Given the description of an element on the screen output the (x, y) to click on. 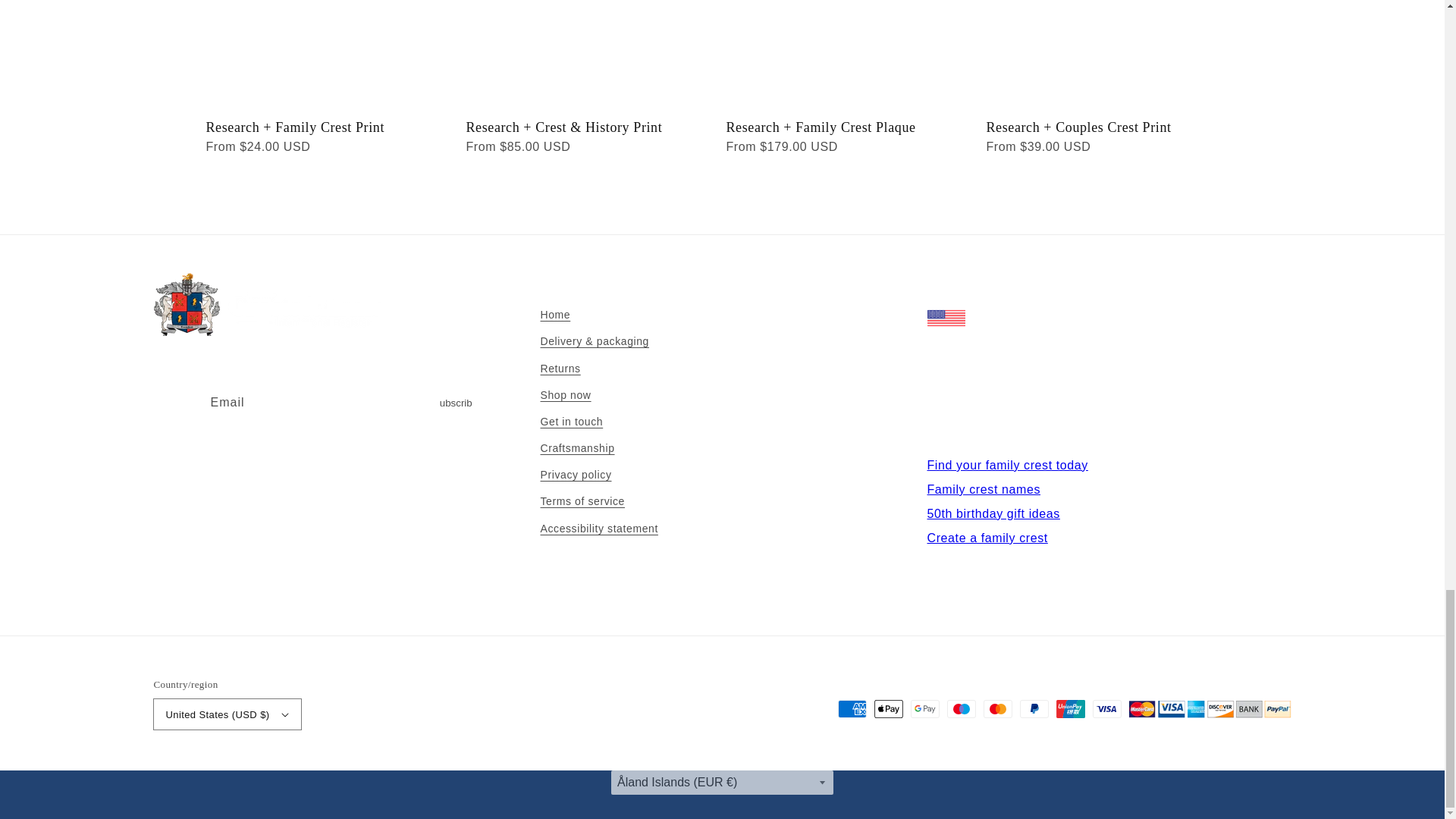
find the perfect gift for a 50th birthday (992, 513)
Home (555, 316)
Learn how we find your family crest and coat of arms (1006, 464)
create a family crest guide (986, 537)
Subscribe (454, 402)
